Given the description of an element on the screen output the (x, y) to click on. 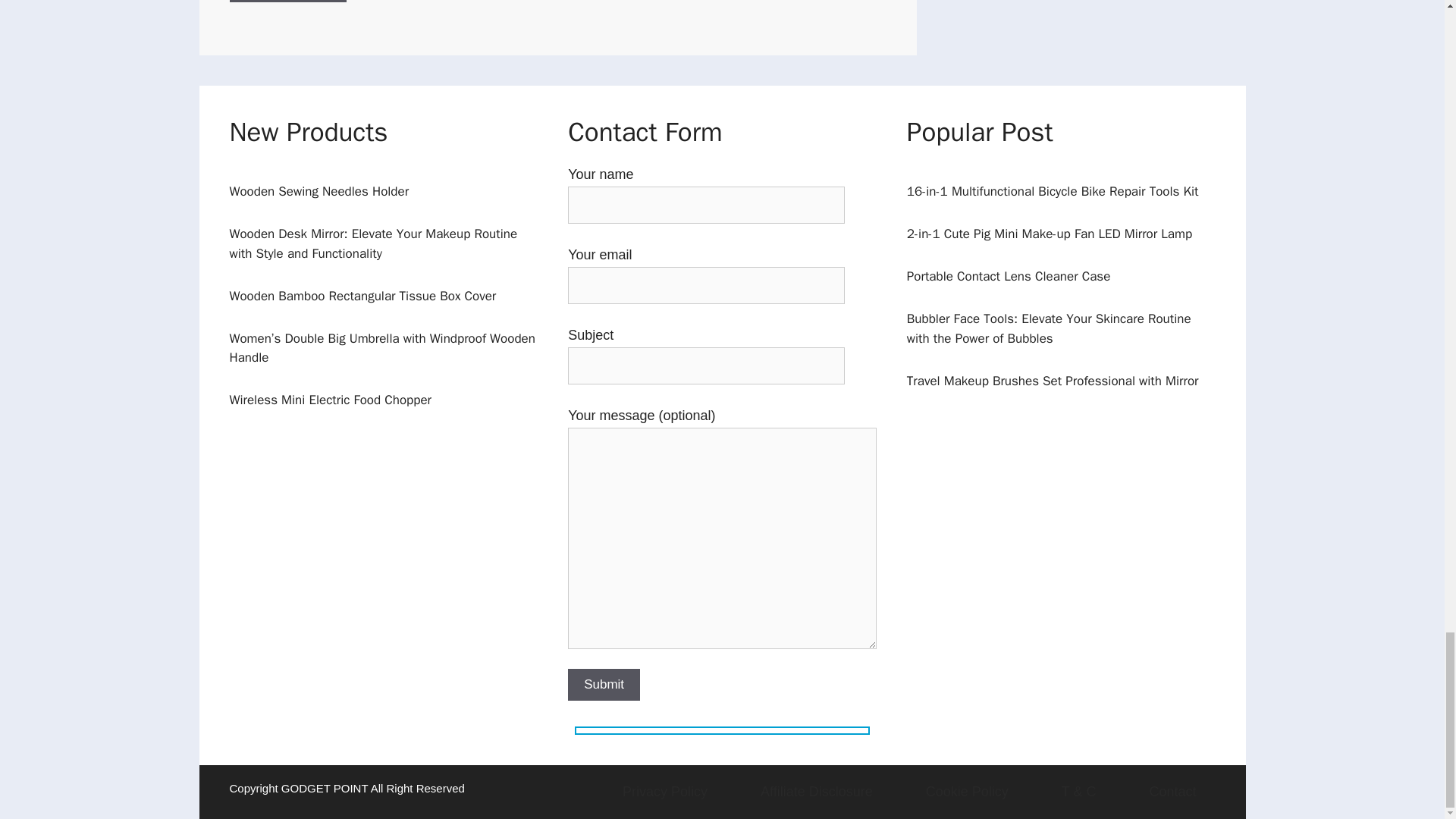
Submit (603, 685)
Post Comment (287, 0)
Post Comment (287, 0)
